Given the description of an element on the screen output the (x, y) to click on. 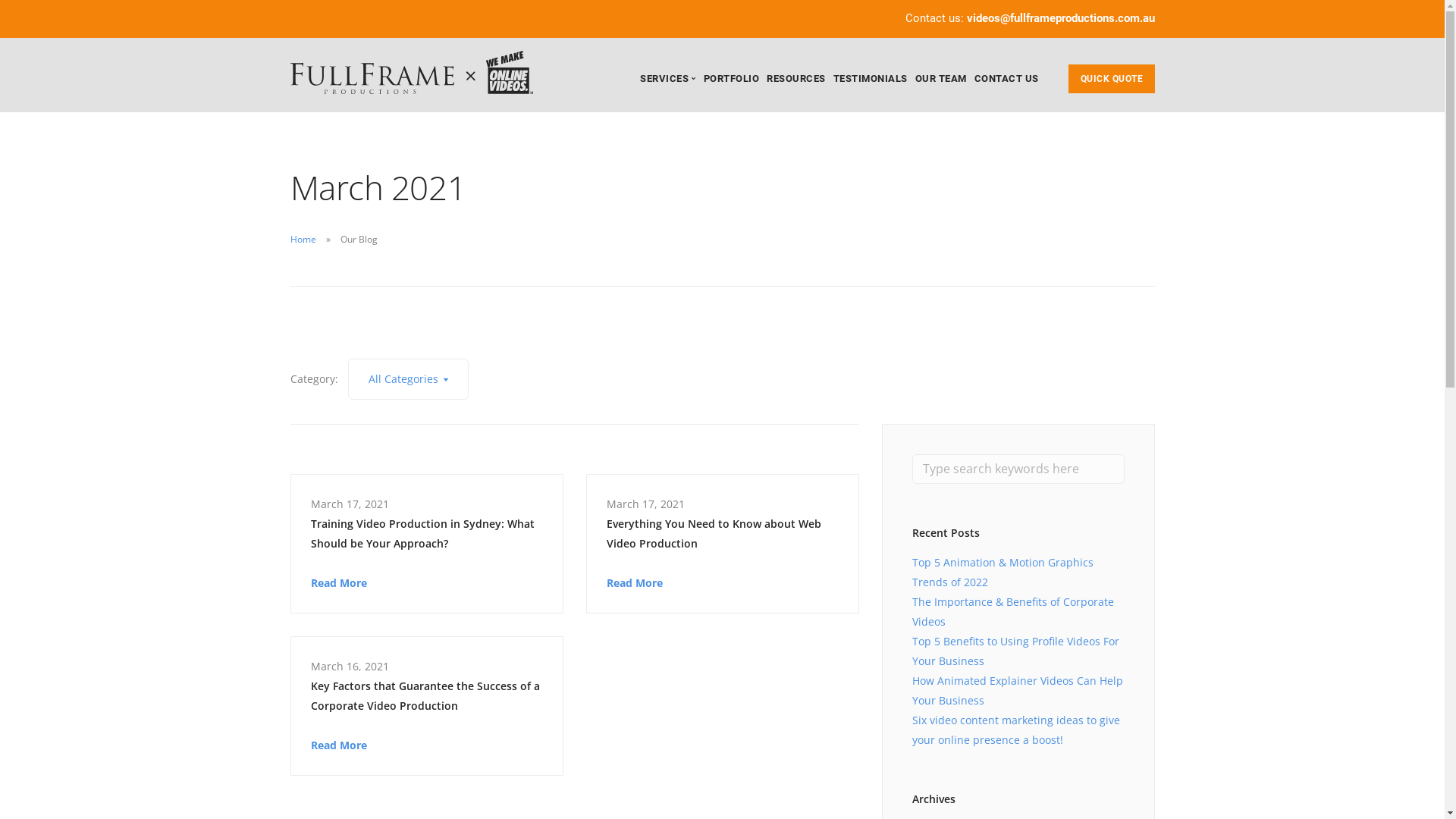
Top 5 Animation & Motion Graphics Trends of 2022 Element type: text (1001, 572)
videos@fullframeproductions.com.au Element type: text (1060, 18)
Read More Element type: text (634, 582)
Read More Element type: text (338, 744)
TESTIMONIALS Element type: text (869, 78)
OUR TEAM Element type: text (940, 78)
How Animated Explainer Videos Can Help Your Business Element type: text (1016, 690)
PORTFOLIO Element type: text (731, 78)
CONTACT US Element type: text (1005, 78)
Everything You Need to Know about Web Video Production Element type: text (722, 533)
Home Element type: text (302, 238)
The Importance & Benefits of Corporate Videos Element type: text (1012, 611)
Read More Element type: text (338, 582)
QUICK QUOTE Element type: text (1110, 78)
Top 5 Benefits to Using Profile Videos For Your Business Element type: text (1014, 650)
RESOURCES Element type: text (795, 78)
